Given the description of an element on the screen output the (x, y) to click on. 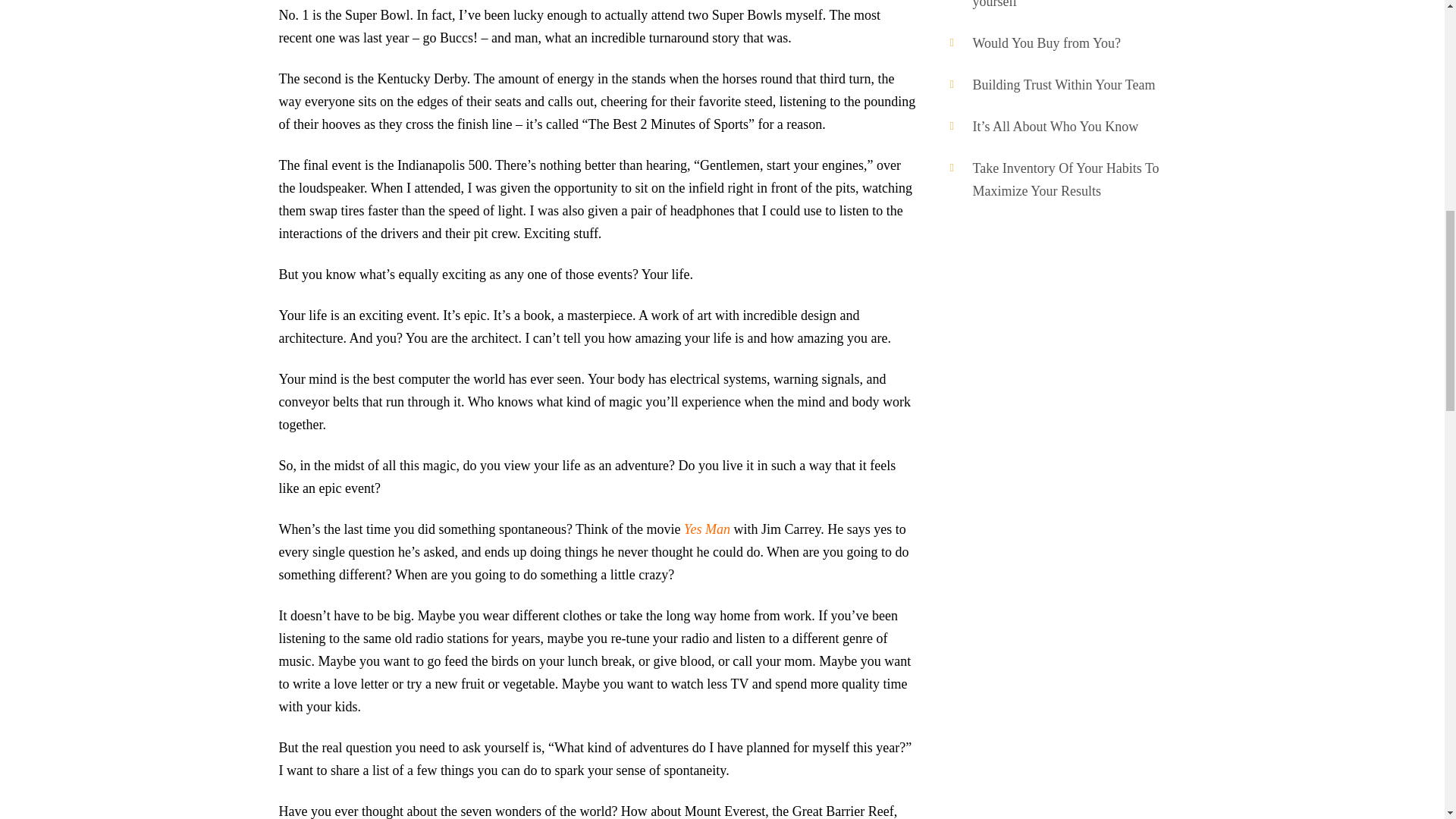
Yes Man (707, 529)
Build your self-discipline, build yourself (1059, 4)
Would You Buy from You? (1046, 43)
Building Trust Within Your Team (1063, 84)
Take Inventory Of Your Habits To Maximize Your Results (1065, 179)
